Given the description of an element on the screen output the (x, y) to click on. 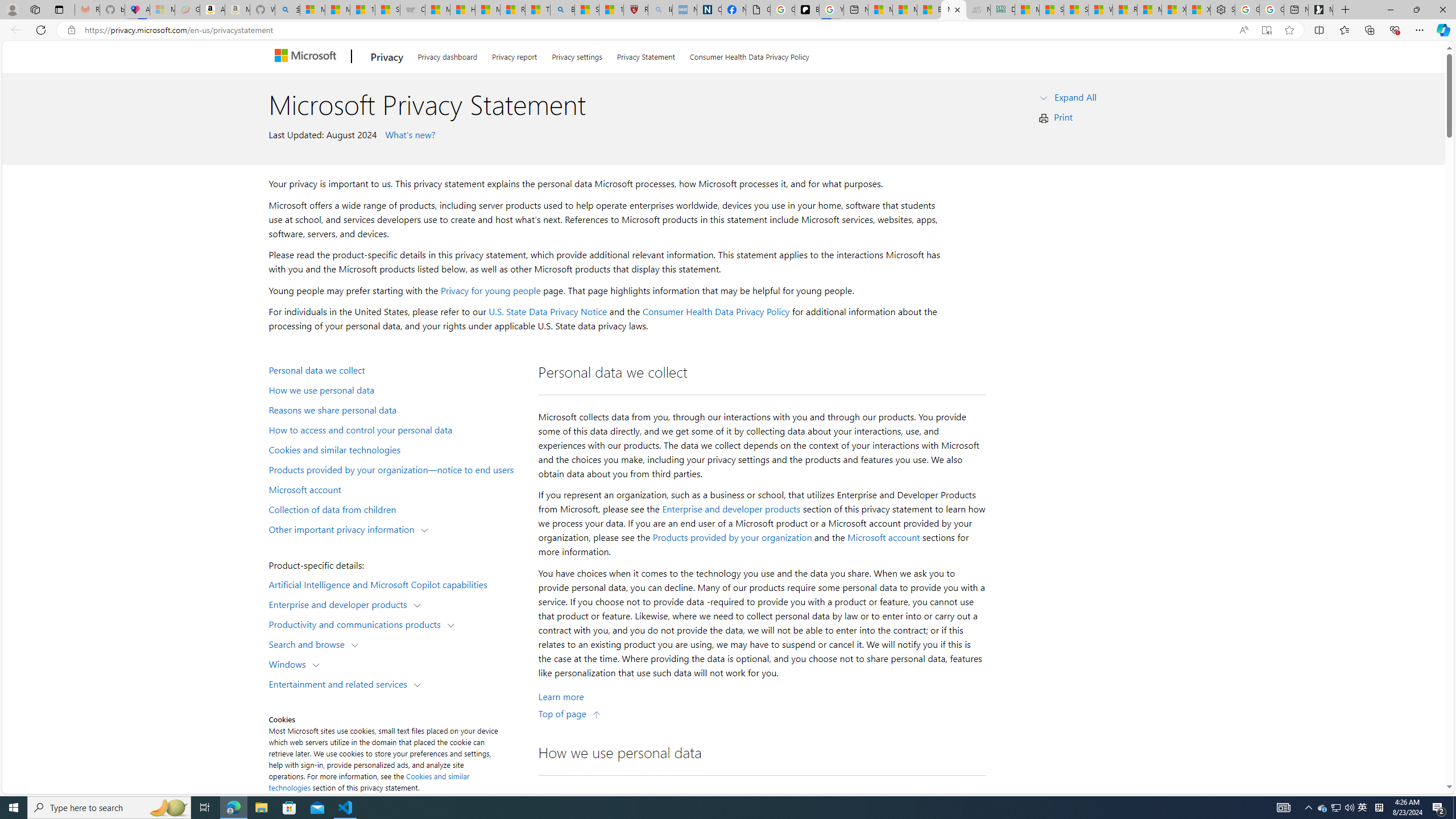
Privacy Statement (645, 54)
Privacy Statement (645, 54)
Reasons we share personal data (395, 409)
Other important privacy information (343, 528)
Productivity and communications products (356, 623)
Personal data we collect (395, 368)
